Given the description of an element on the screen output the (x, y) to click on. 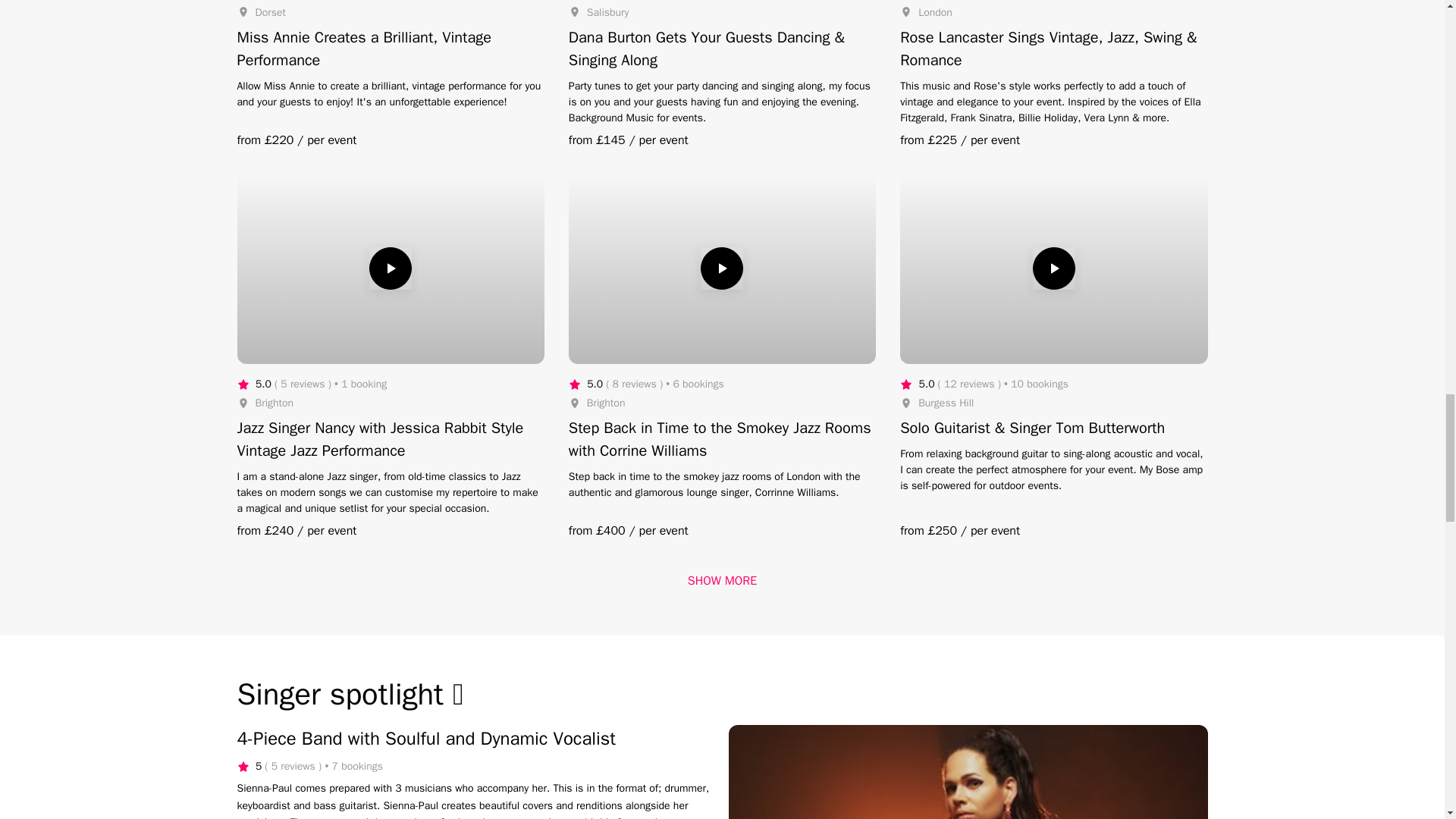
SHOW MORE (721, 580)
